Given the description of an element on the screen output the (x, y) to click on. 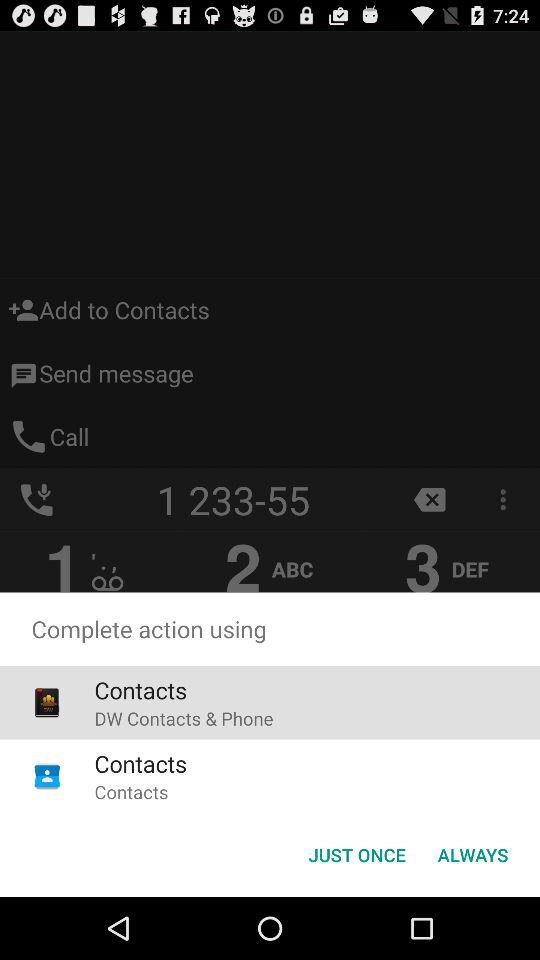
press the just once (356, 854)
